Given the description of an element on the screen output the (x, y) to click on. 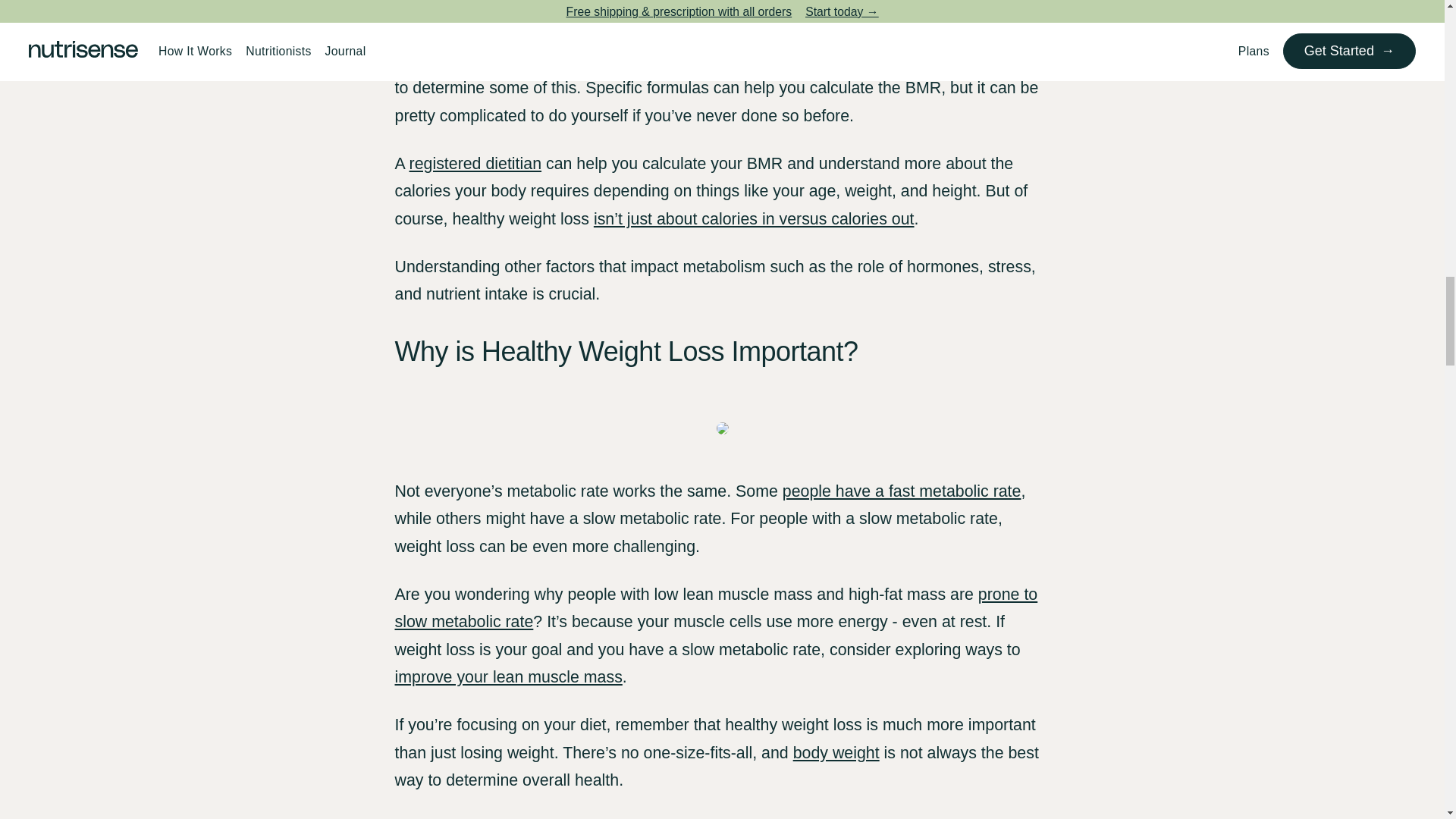
registered dietitian (475, 163)
people have a fast metabolic rate (902, 491)
physical activity (561, 60)
